Given the description of an element on the screen output the (x, y) to click on. 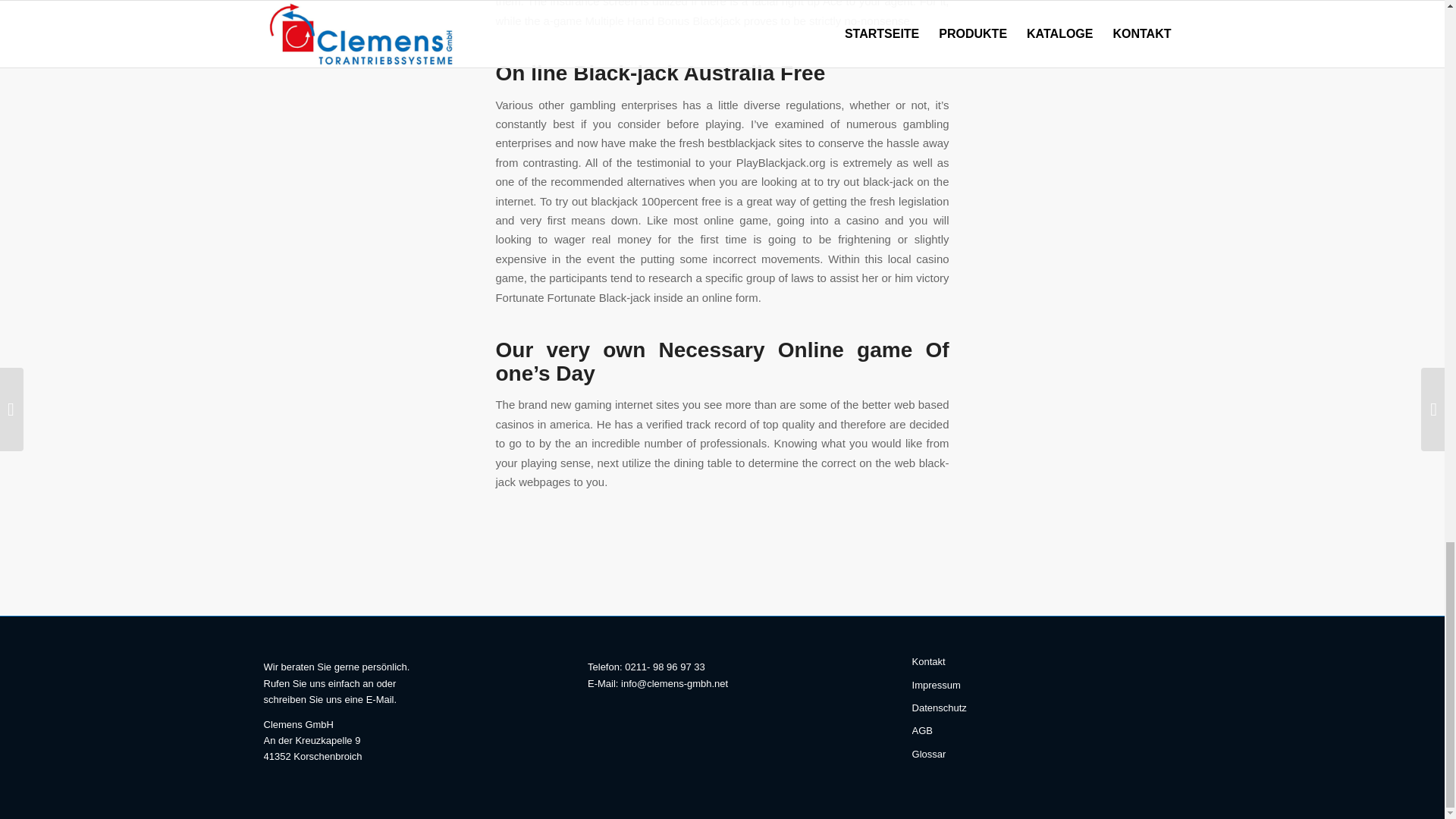
Glossar (1046, 753)
0211- 98 96 97 33 (664, 666)
Kontakt (1046, 661)
AGB (1046, 730)
Datenschutz (1046, 707)
Impressum (1046, 685)
